Given the description of an element on the screen output the (x, y) to click on. 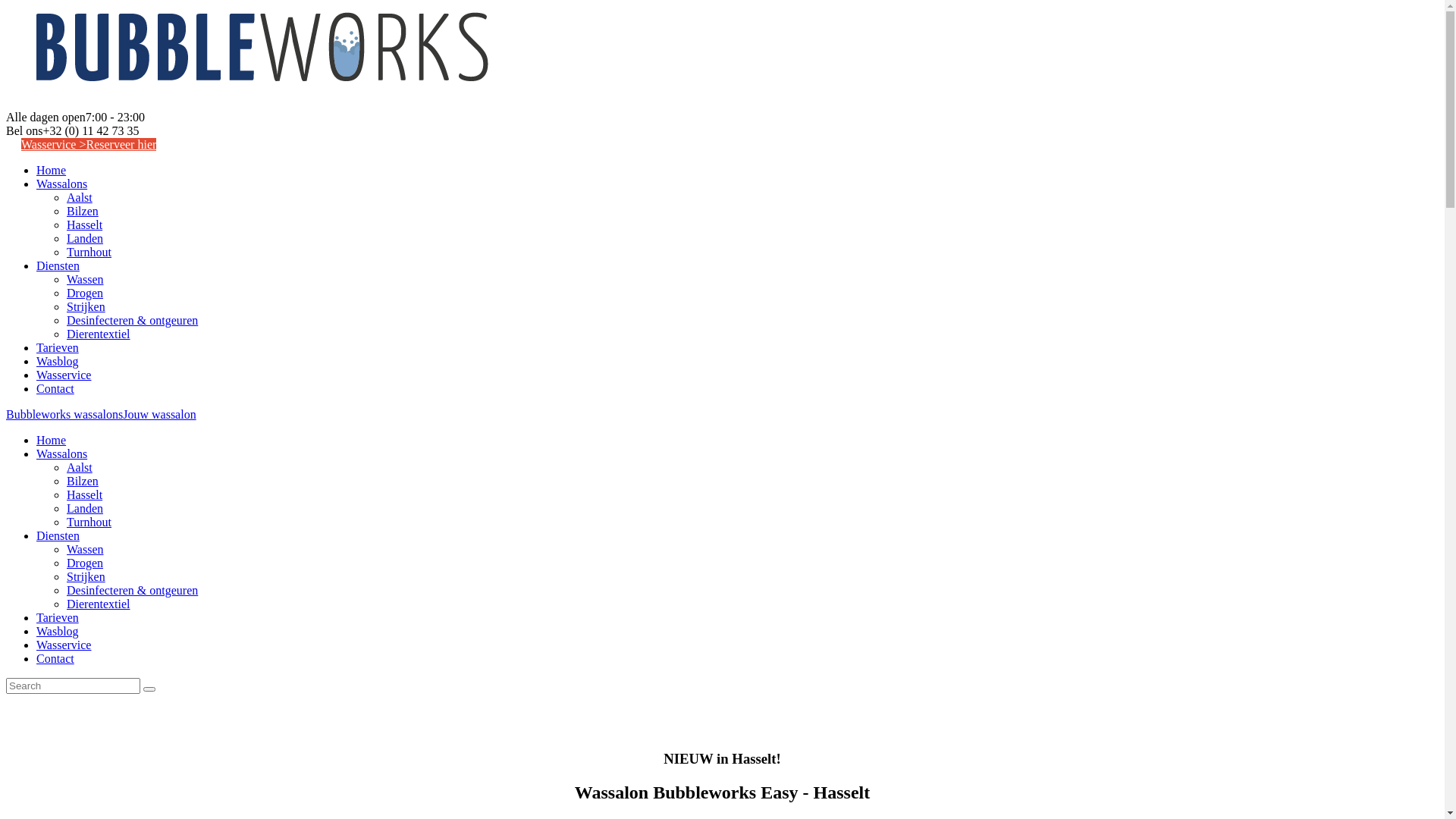
Hasselt Element type: text (84, 494)
Tarieven Element type: text (57, 617)
Bilzen Element type: text (82, 480)
Wasblog Element type: text (57, 360)
Wassen Element type: text (84, 279)
Turnhout Element type: text (88, 521)
Bilzen Element type: text (82, 210)
Wasservice Element type: text (63, 644)
Contact Element type: text (55, 658)
Landen Element type: text (84, 508)
Drogen Element type: text (84, 292)
Aalst Element type: text (79, 197)
Dierentextiel Element type: text (98, 603)
Strijken Element type: text (85, 306)
Hasselt Element type: text (84, 224)
Aalst Element type: text (79, 467)
Wasblog Element type: text (57, 630)
Diensten Element type: text (57, 535)
Home Element type: text (50, 169)
Landen Element type: text (84, 238)
Wasservice Element type: text (63, 374)
Contact Element type: text (55, 388)
Bubbleworks wassalonsJouw wassalon Element type: text (101, 413)
Home Element type: text (50, 439)
Desinfecteren & ontgeuren Element type: text (131, 319)
Strijken Element type: text (85, 576)
Wassalons Element type: text (61, 453)
Tarieven Element type: text (57, 347)
Desinfecteren & ontgeuren Element type: text (131, 589)
Wasservice >Reserveer hier Element type: text (88, 144)
Drogen Element type: text (84, 562)
Turnhout Element type: text (88, 251)
Wassen Element type: text (84, 548)
Wassalons Element type: text (61, 183)
Dierentextiel Element type: text (98, 333)
Diensten Element type: text (57, 265)
